Given the description of an element on the screen output the (x, y) to click on. 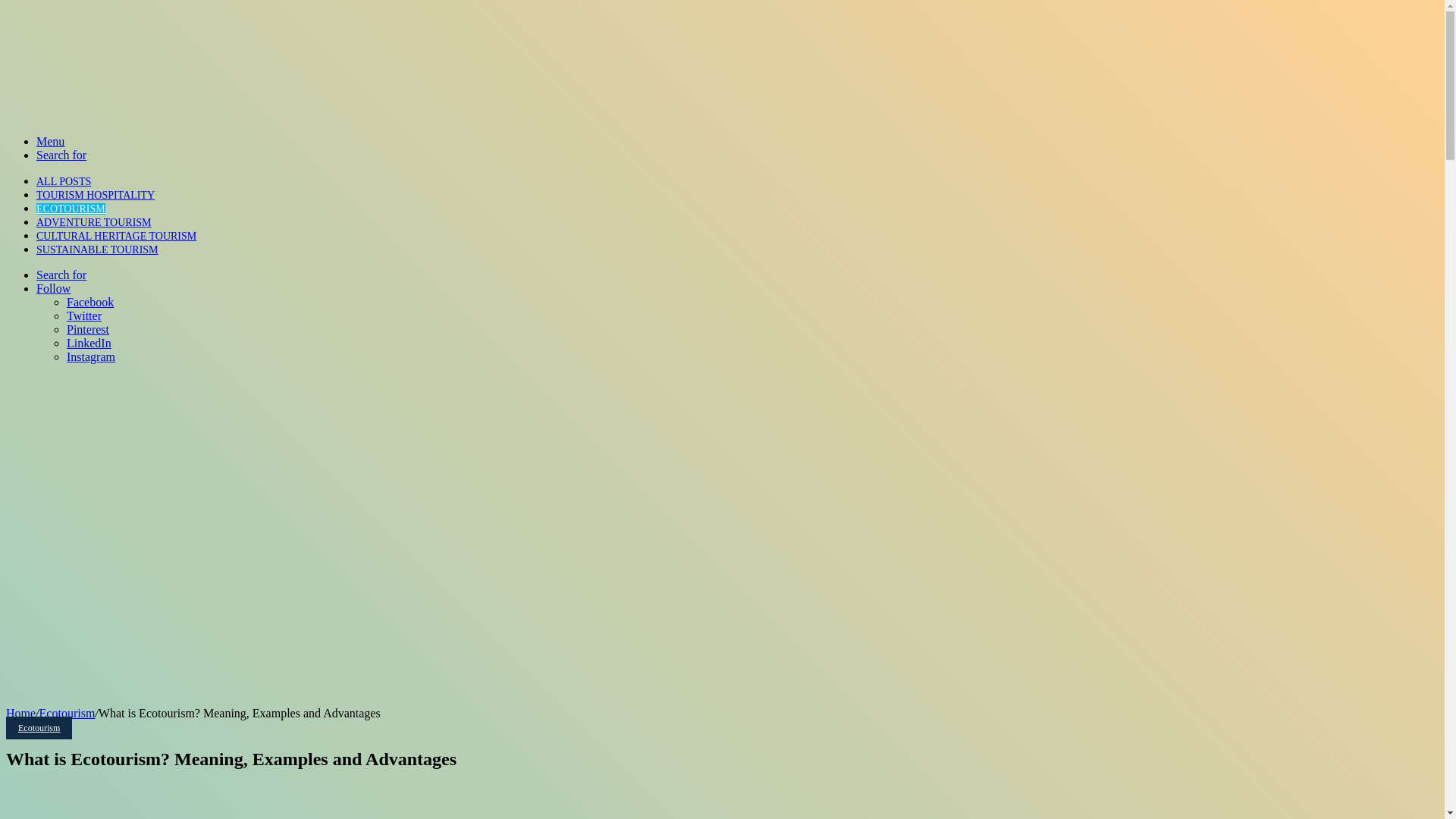
ADVENTURE TOURISM (93, 222)
ALL POSTS (63, 181)
SUSTAINABLE TOURISM (97, 249)
Instagram (90, 356)
Menu (50, 141)
TOURISM HOSPITALITY (95, 194)
Facebook (89, 301)
Twitter (83, 315)
Search for (60, 274)
